Given the description of an element on the screen output the (x, y) to click on. 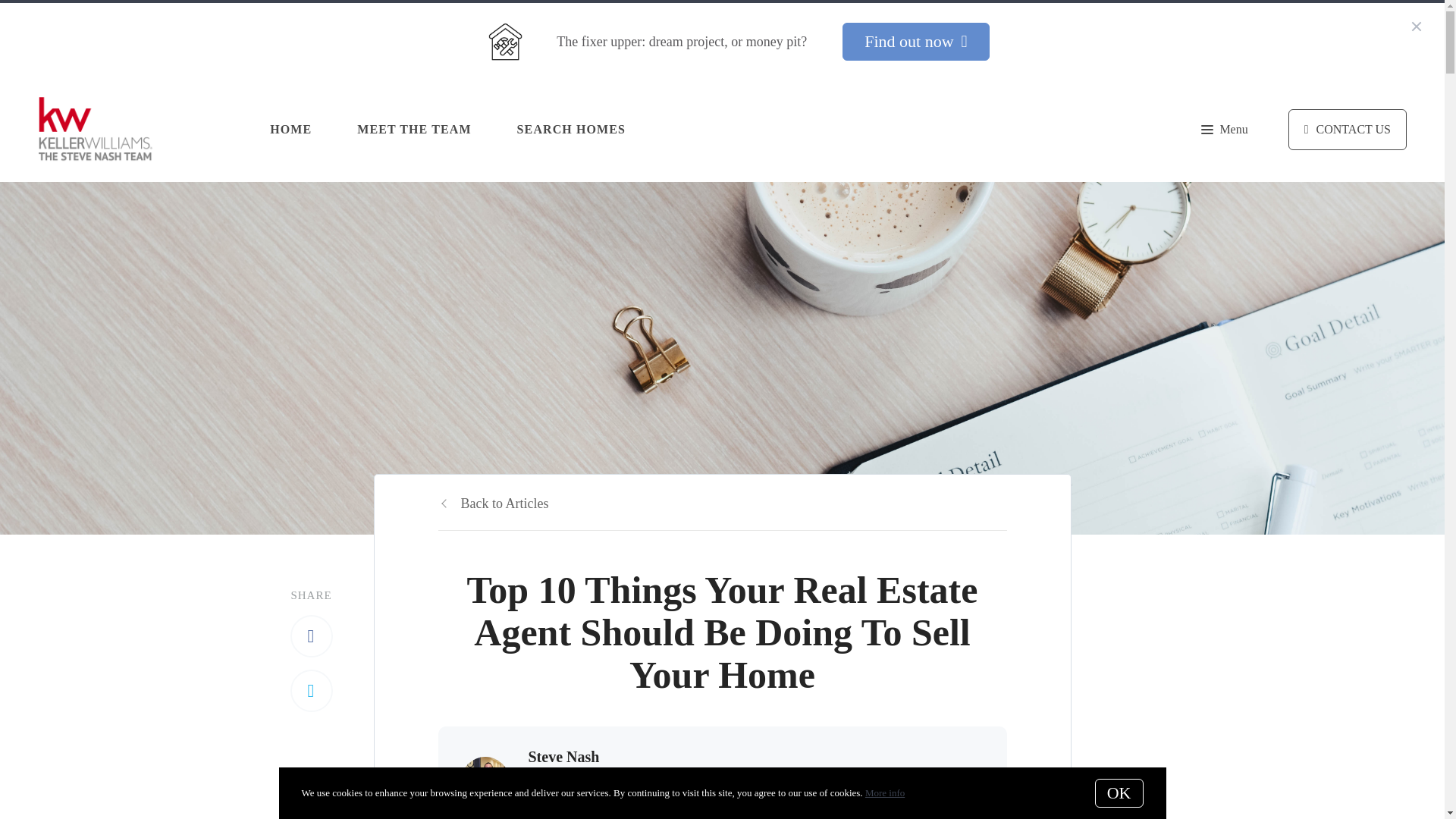
HOME (290, 129)
Menu (1224, 129)
Back to Articles (493, 503)
Find out now (915, 41)
CONTACT US (1347, 128)
MEET THE TEAM (413, 129)
SEARCH HOMES (571, 129)
